Given the description of an element on the screen output the (x, y) to click on. 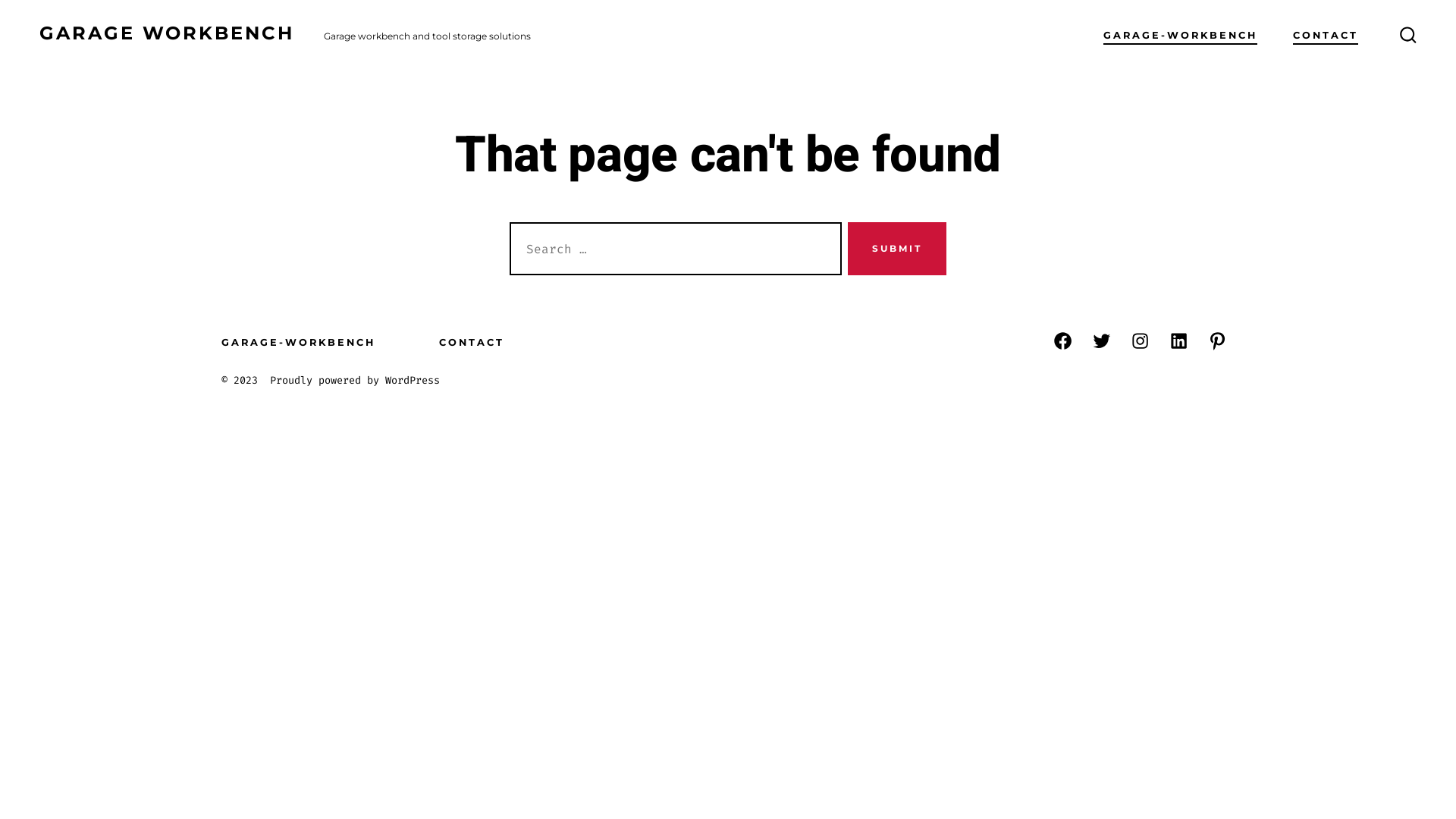
GARAGE WORKBENCH Element type: text (166, 35)
Open Facebook in a new tab Element type: text (1062, 340)
Open Pinterest in a new tab Element type: text (1217, 340)
GARAGE-WORKBENCH Element type: text (312, 342)
SUBMIT Element type: text (896, 248)
GARAGE-WORKBENCH Element type: text (1180, 36)
Open Twitter in a new tab Element type: text (1101, 340)
Open Instagram in a new tab Element type: text (1139, 340)
CONTACT Element type: text (1325, 36)
Open LinkedIn in a new tab Element type: text (1178, 340)
SEARCH TOGGLE Element type: text (1407, 35)
CONTACT Element type: text (471, 342)
